Given the description of an element on the screen output the (x, y) to click on. 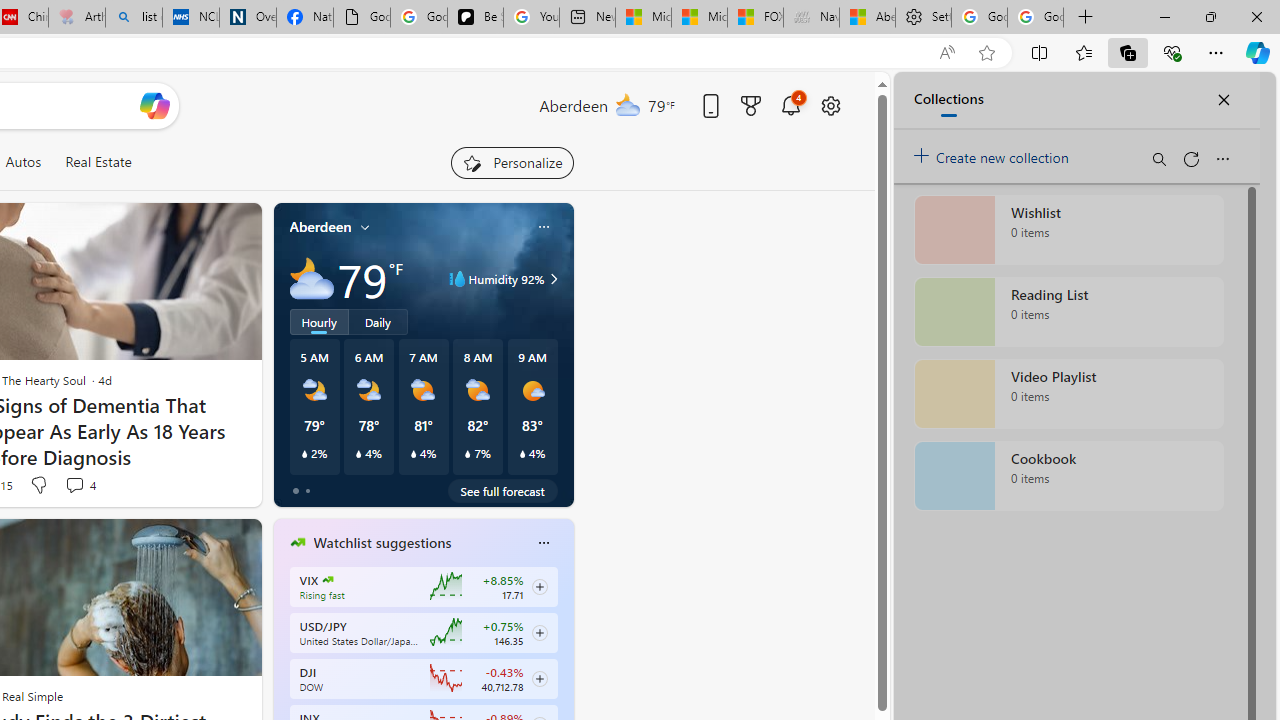
Hourly (319, 321)
Aberdeen (320, 227)
Daily (378, 321)
You're following FOX News (197, 490)
View comments 4 Comment (74, 485)
